Given the description of an element on the screen output the (x, y) to click on. 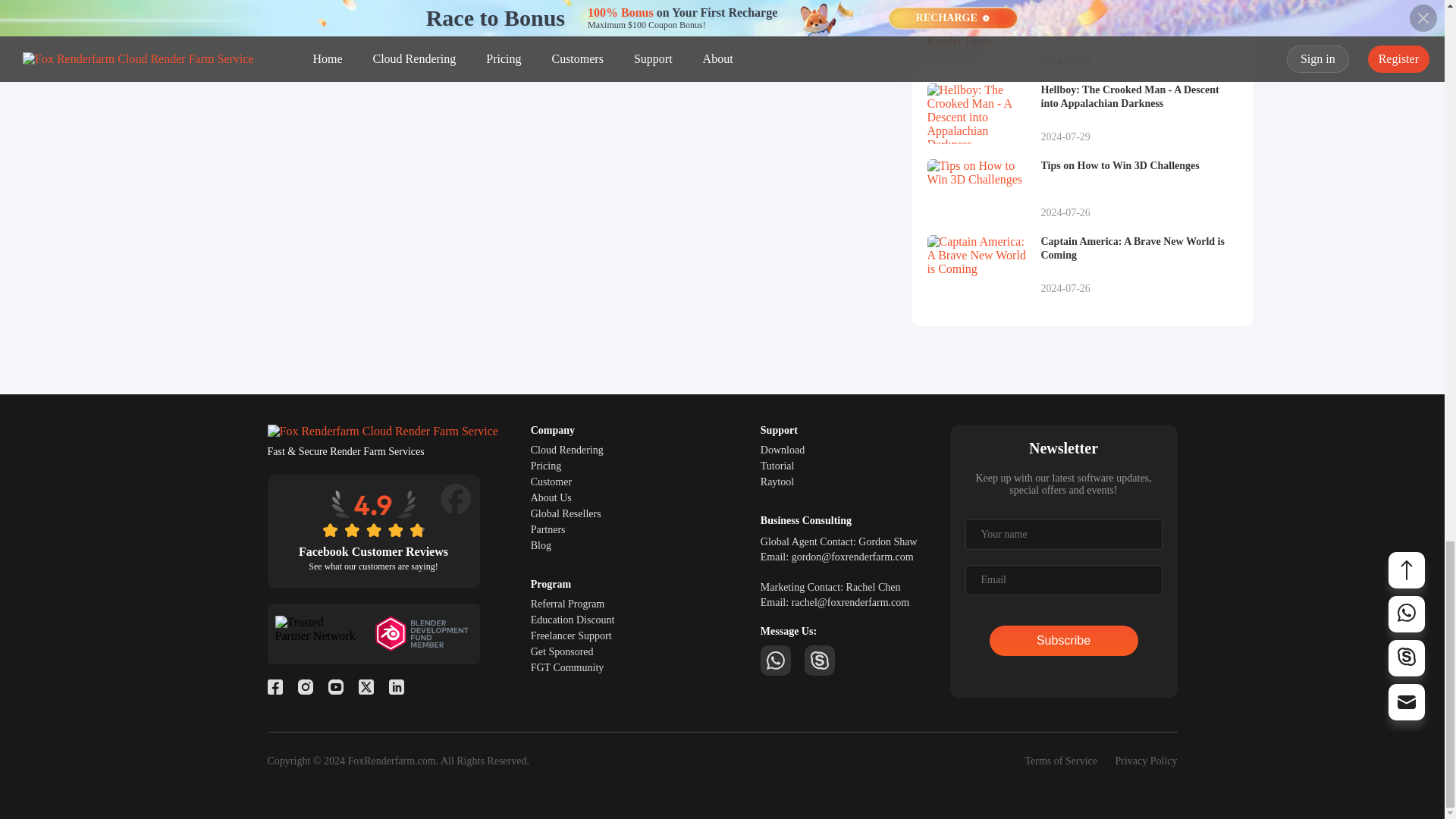
Please fill out this field. (1062, 534)
